Given the description of an element on the screen output the (x, y) to click on. 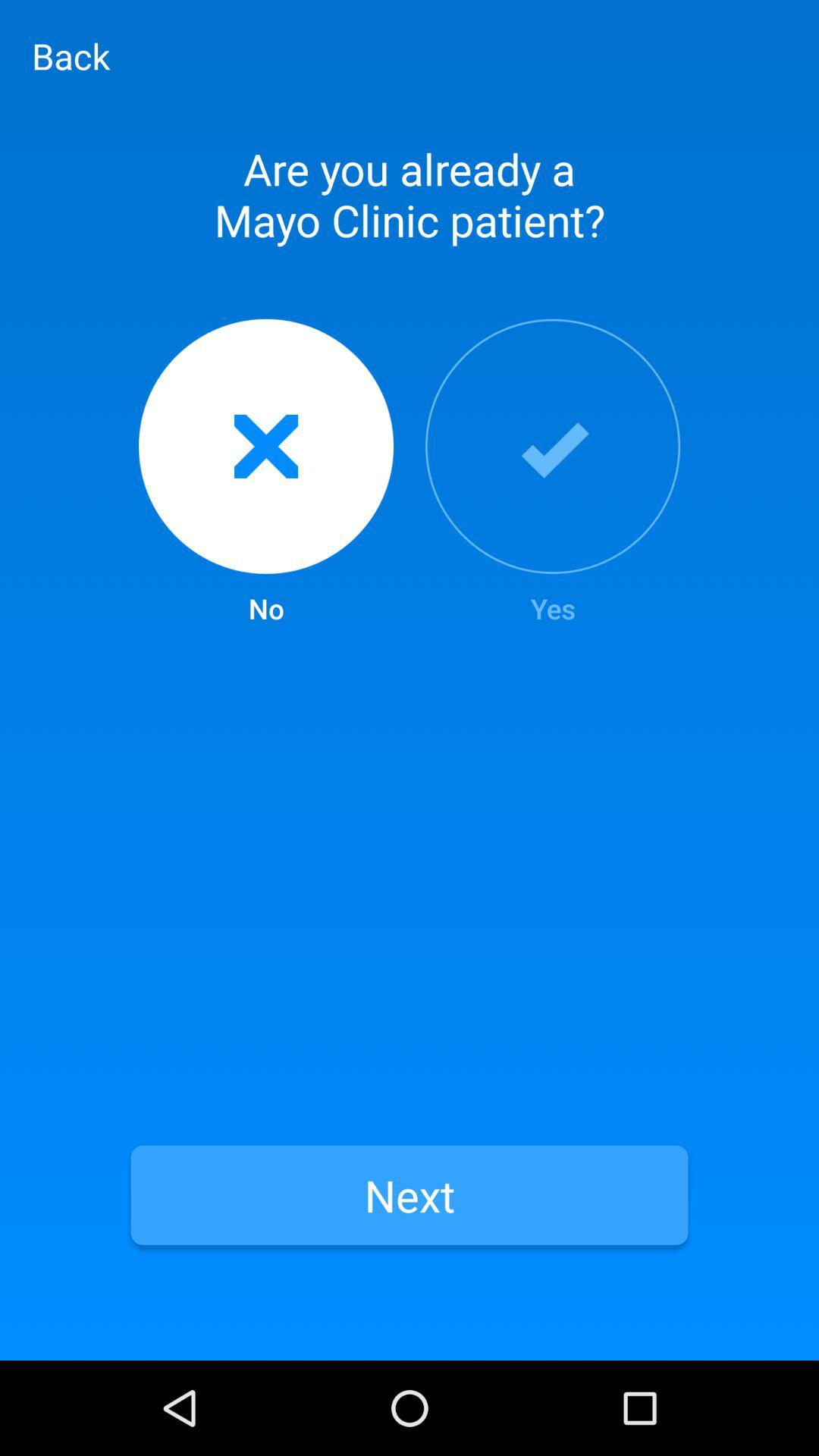
select the yes at the top right corner (552, 473)
